Given the description of an element on the screen output the (x, y) to click on. 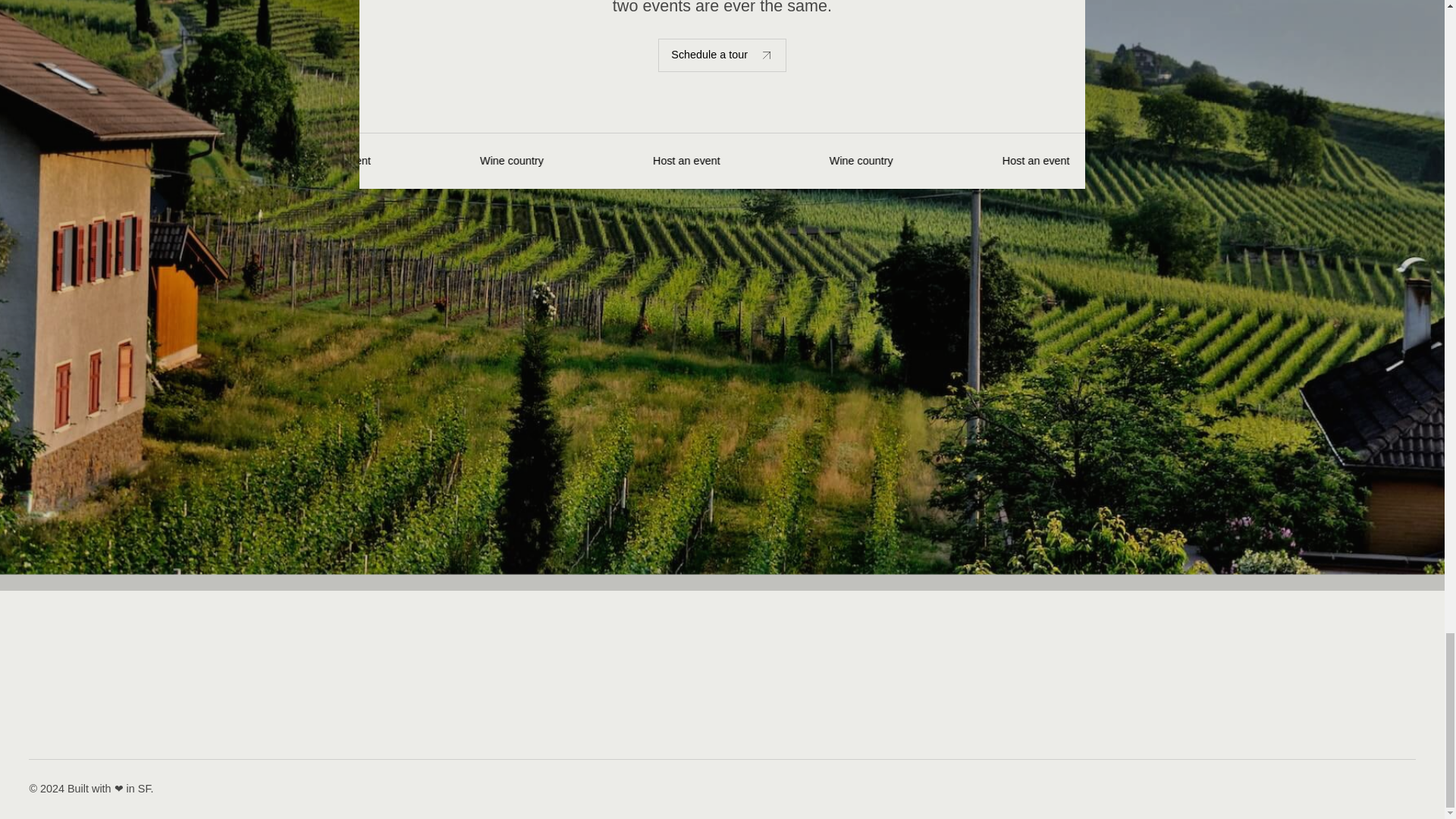
Schedule a tour (722, 55)
